Given the description of an element on the screen output the (x, y) to click on. 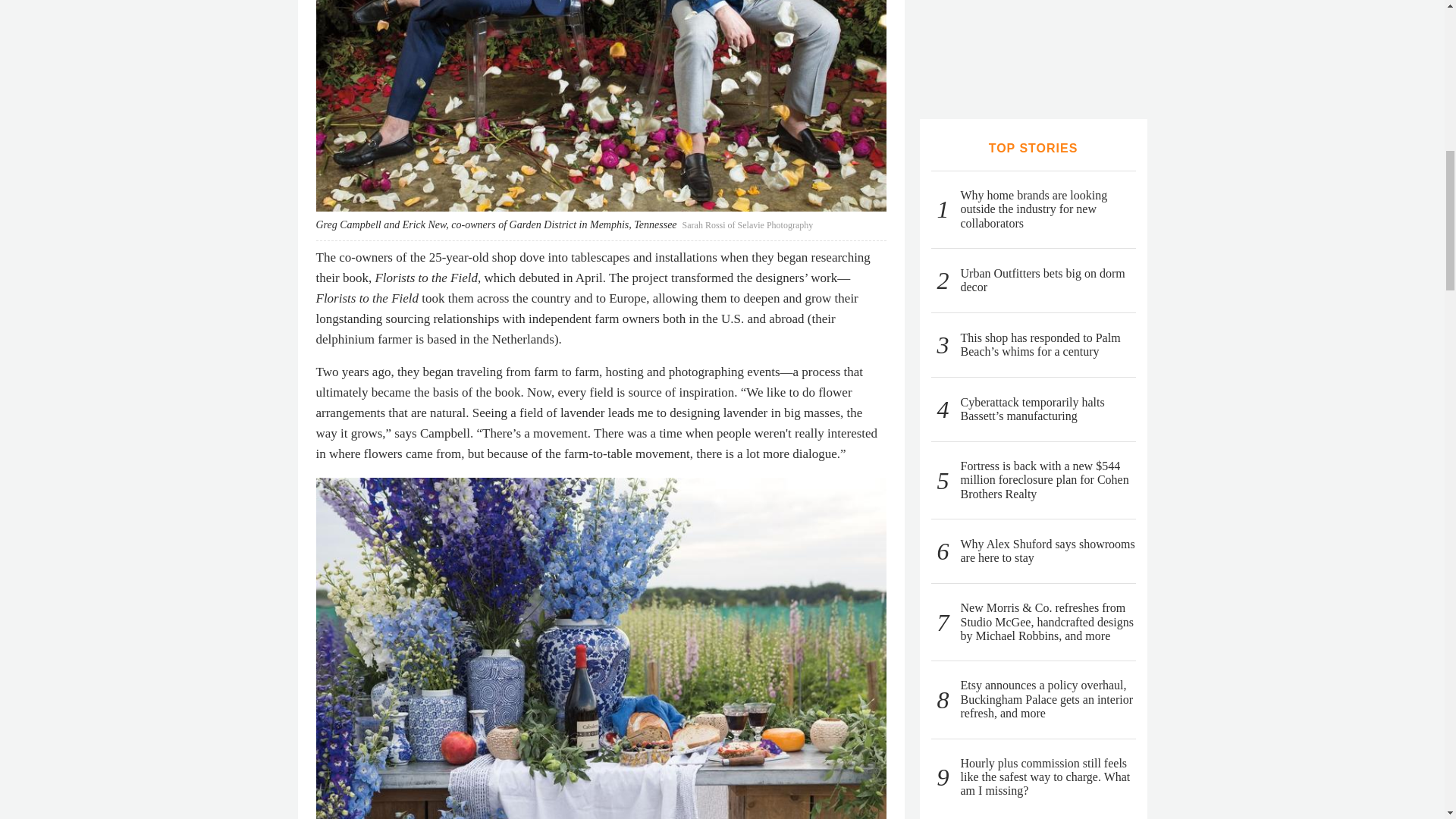
Greg Campbell and Erick New (600, 105)
3rd party ad content (1032, 44)
